Given the description of an element on the screen output the (x, y) to click on. 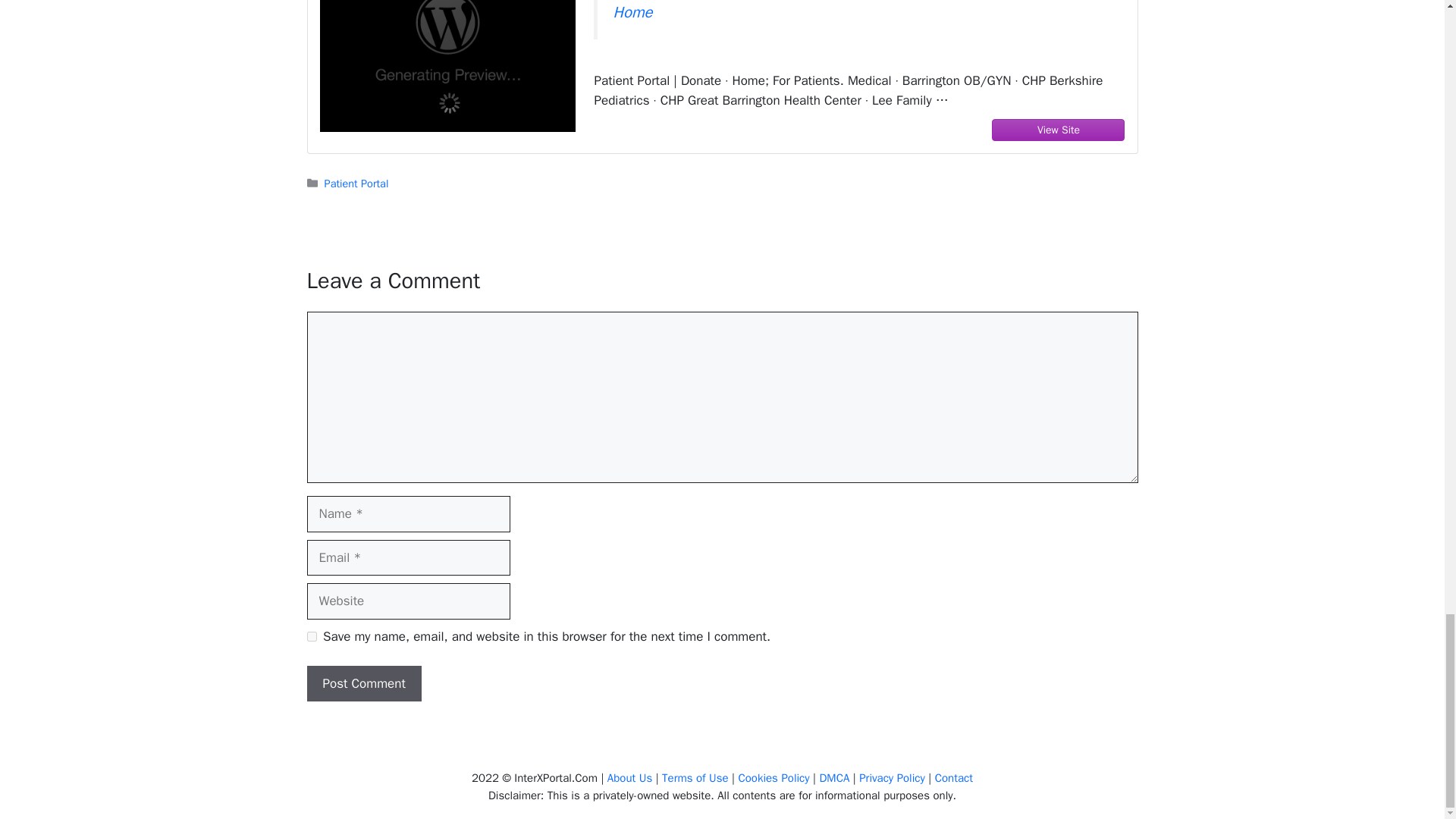
Patient Portal (356, 183)
Contact (953, 777)
Privacy Policy (891, 777)
Home (632, 12)
Post Comment (362, 683)
Cookies Policy (773, 777)
Terms of Use (695, 777)
yes (310, 636)
Post Comment (362, 683)
About Us (629, 777)
DMCA (833, 777)
View Site (1058, 129)
